Given the description of an element on the screen output the (x, y) to click on. 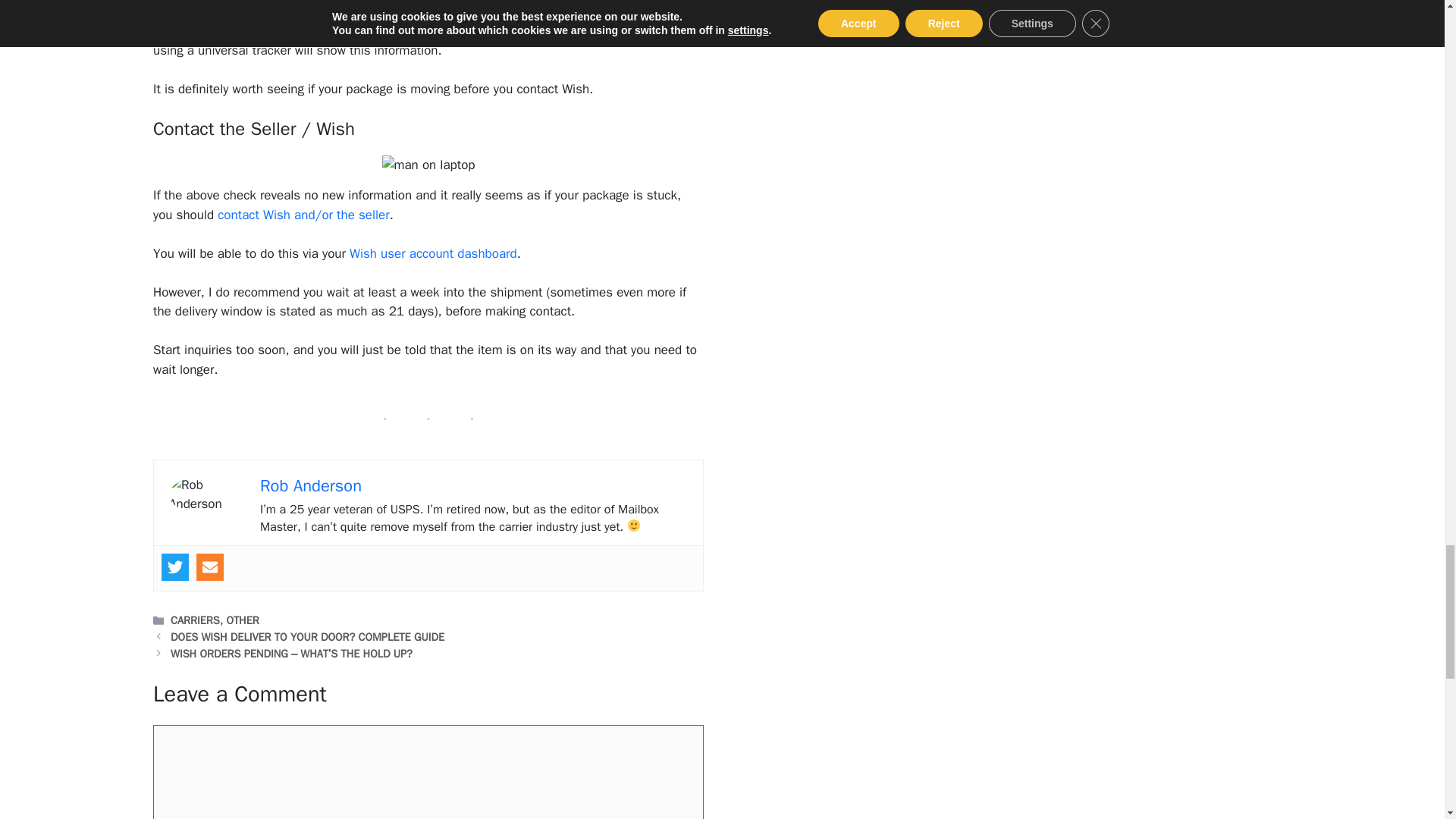
Rob Anderson (310, 485)
CARRIERS (194, 620)
Wish user account dashboard (432, 253)
OTHER (242, 620)
DOES WISH DELIVER TO YOUR DOOR? COMPLETE GUIDE (307, 636)
